Given the description of an element on the screen output the (x, y) to click on. 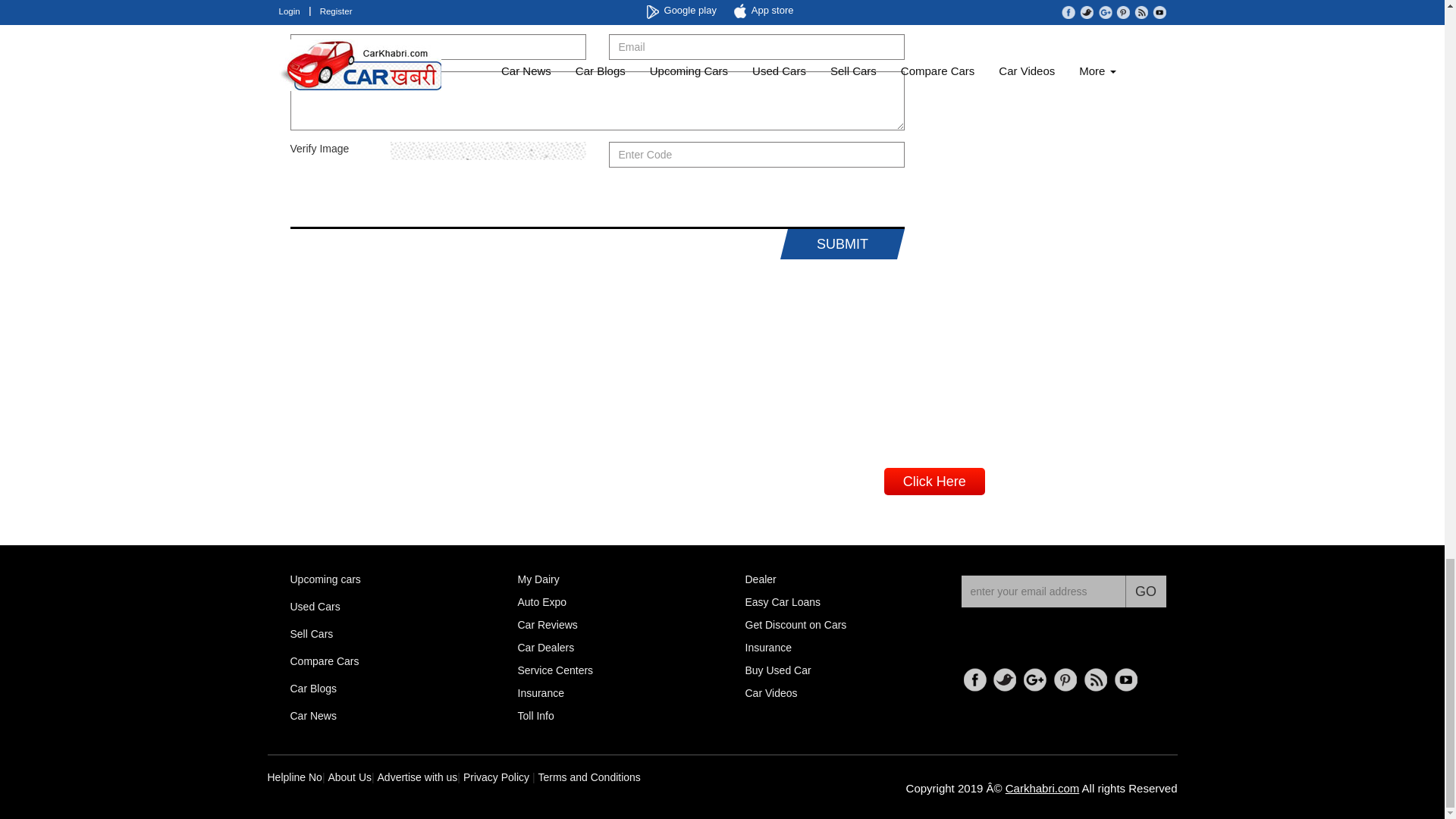
Car Loans (782, 602)
Terms and Conditions (588, 776)
Privacy Policy (496, 776)
Dealer (760, 579)
Advertise with us (417, 776)
Discount (794, 624)
About Us (349, 776)
